Given the description of an element on the screen output the (x, y) to click on. 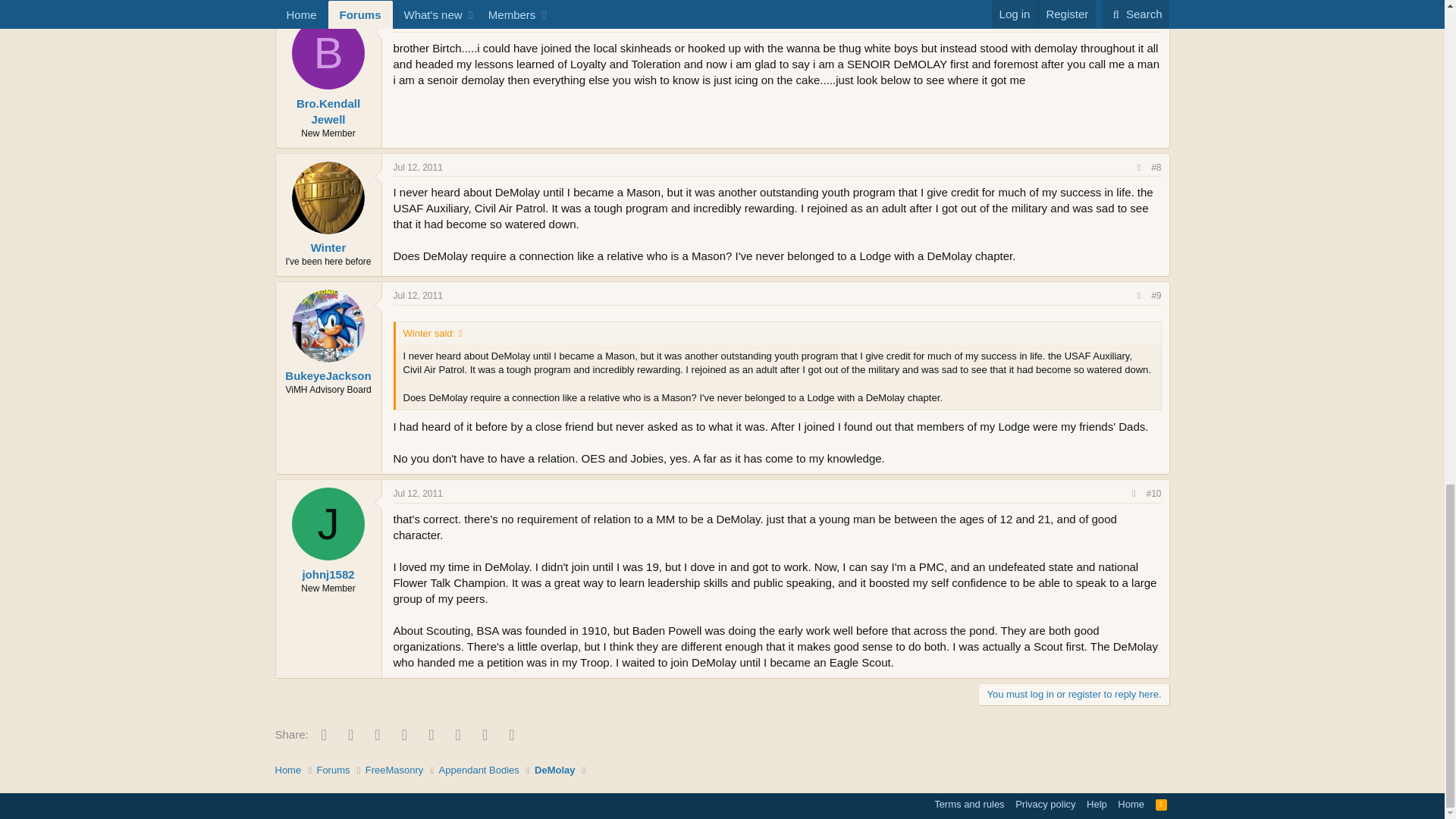
Jul 10, 2011 at 10:04 PM (417, 22)
Jul 12, 2011 at 3:22 PM (417, 295)
Jul 12, 2011 at 4:53 PM (417, 493)
Jul 12, 2011 at 9:59 AM (417, 167)
RSS (1161, 803)
